Given the description of an element on the screen output the (x, y) to click on. 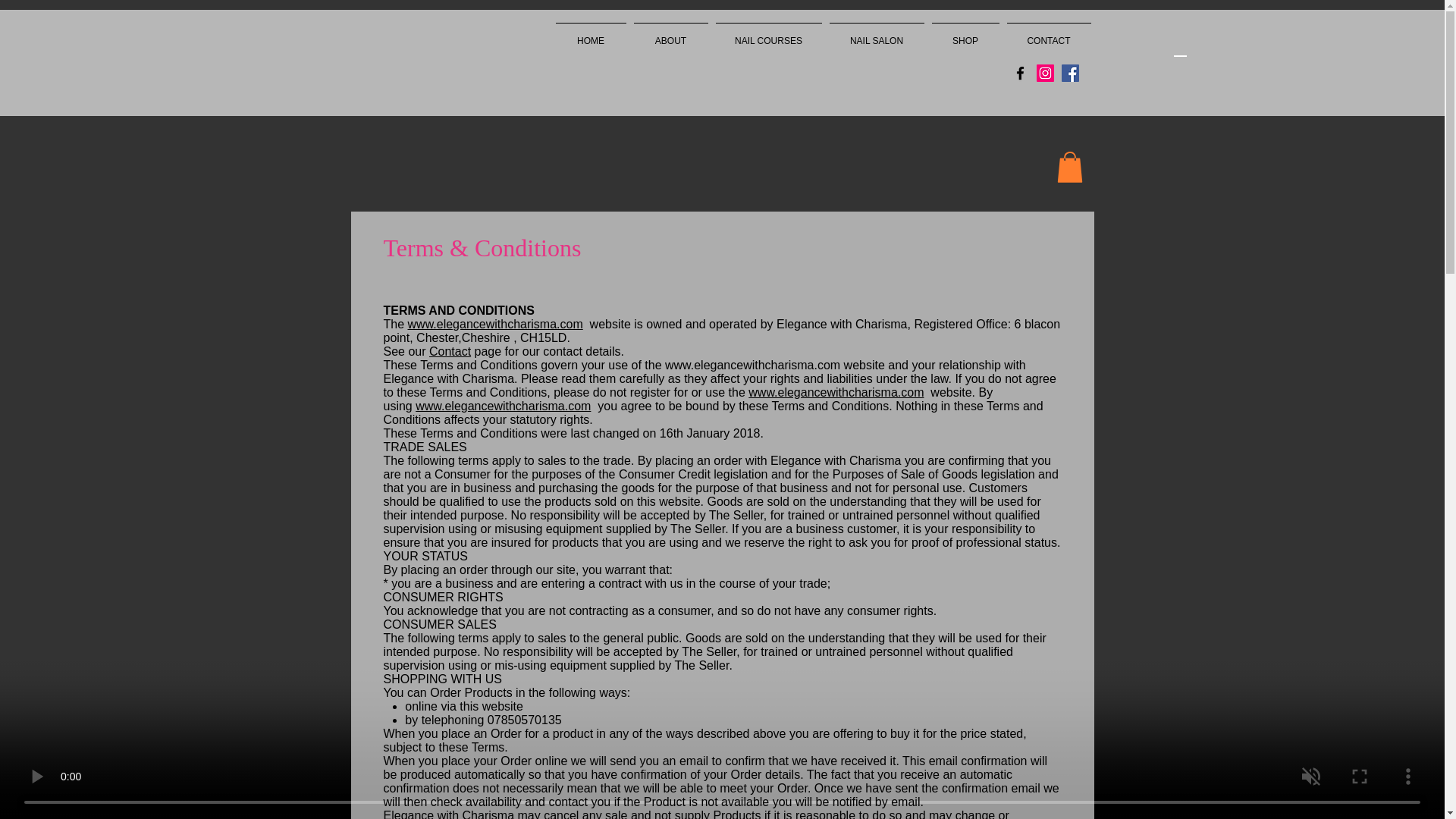
HOME (590, 33)
NAIL SALON (876, 33)
CONTACT (1048, 33)
NAIL COURSES (768, 33)
www.elegancewithcharisma.com (752, 364)
SHOP (965, 33)
ABOUT (669, 33)
www.elegancewithcharisma.com (495, 323)
www.elegancewithcharisma.com (835, 391)
Contact (449, 350)
